Given the description of an element on the screen output the (x, y) to click on. 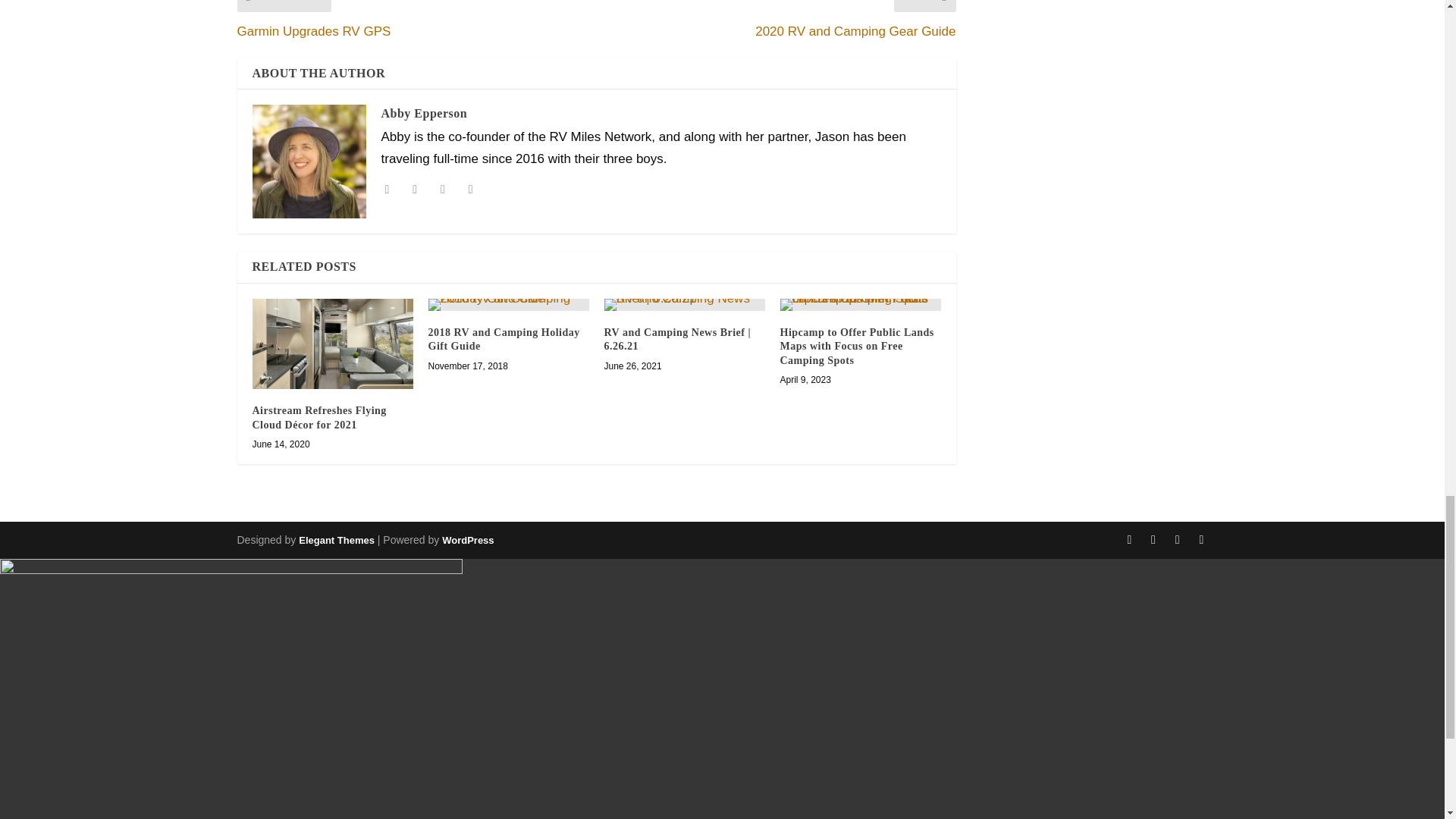
2018 RV and Camping Holiday Gift Guide (508, 304)
Premium WordPress Themes (336, 540)
View all posts by Abby Epperson (423, 113)
Abby Epperson (423, 113)
